Given the description of an element on the screen output the (x, y) to click on. 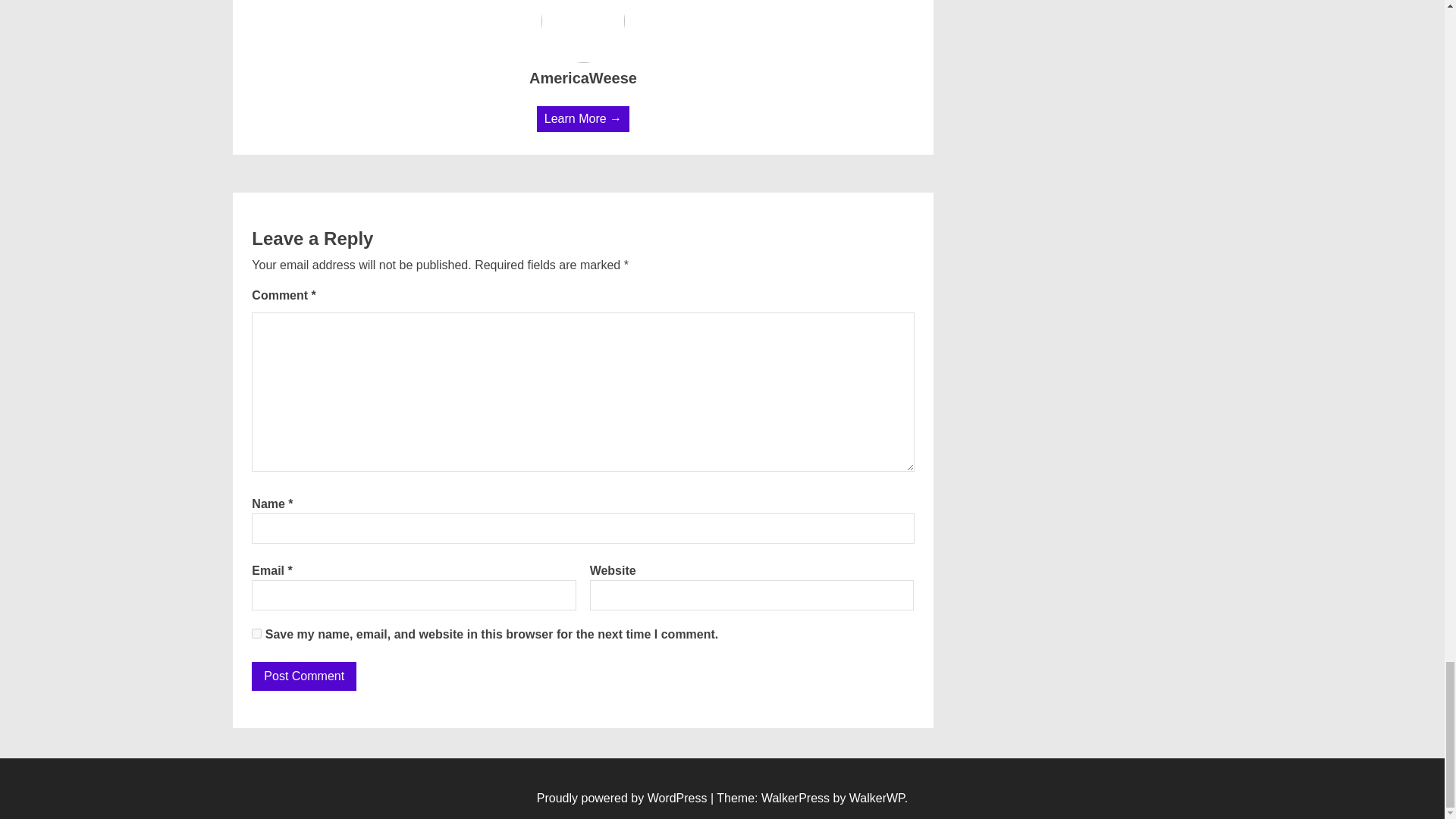
yes (256, 633)
Post Comment (303, 676)
Post Comment (303, 676)
